Given the description of an element on the screen output the (x, y) to click on. 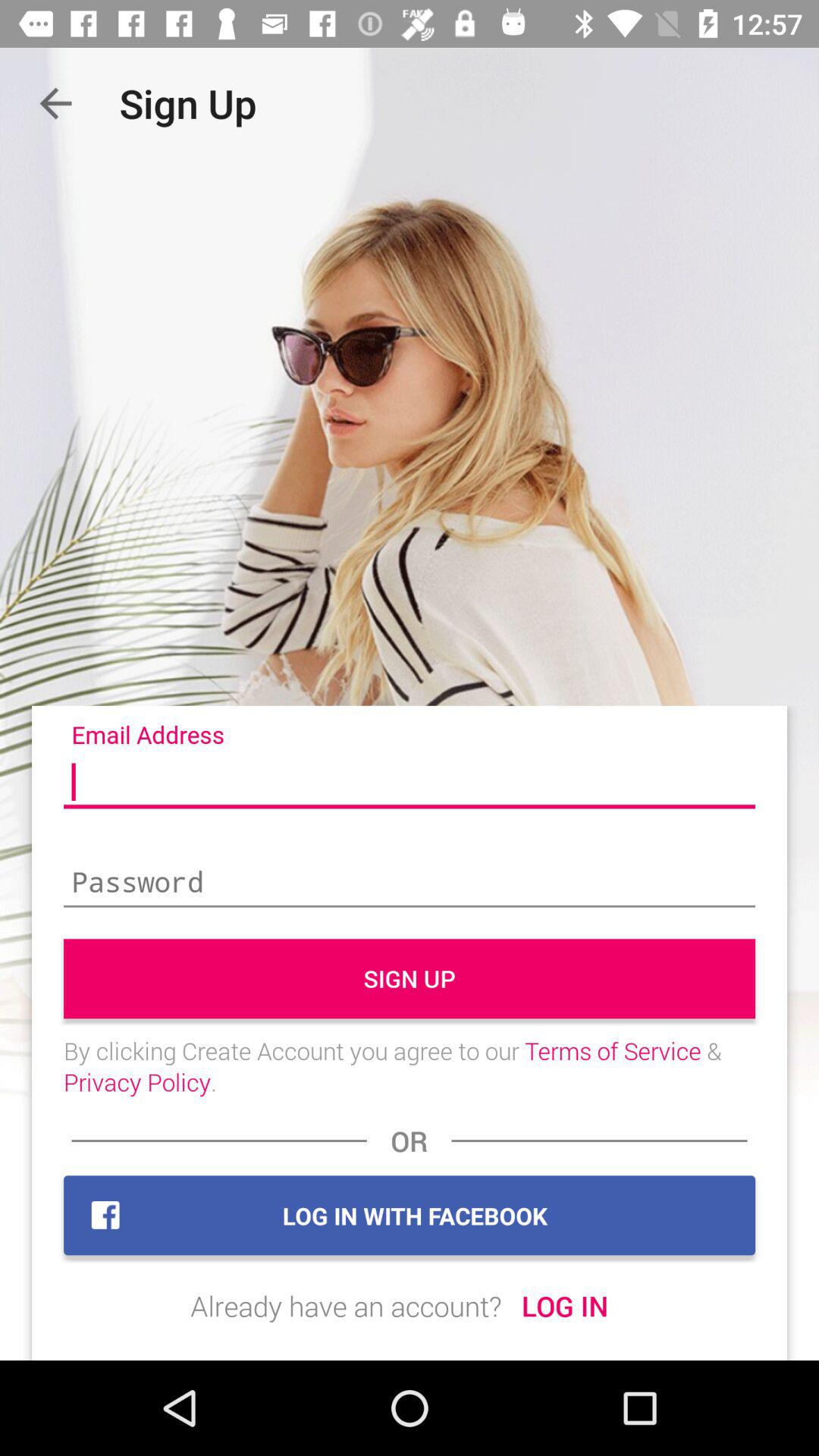
choose the icon below sign up icon (409, 1066)
